Given the description of an element on the screen output the (x, y) to click on. 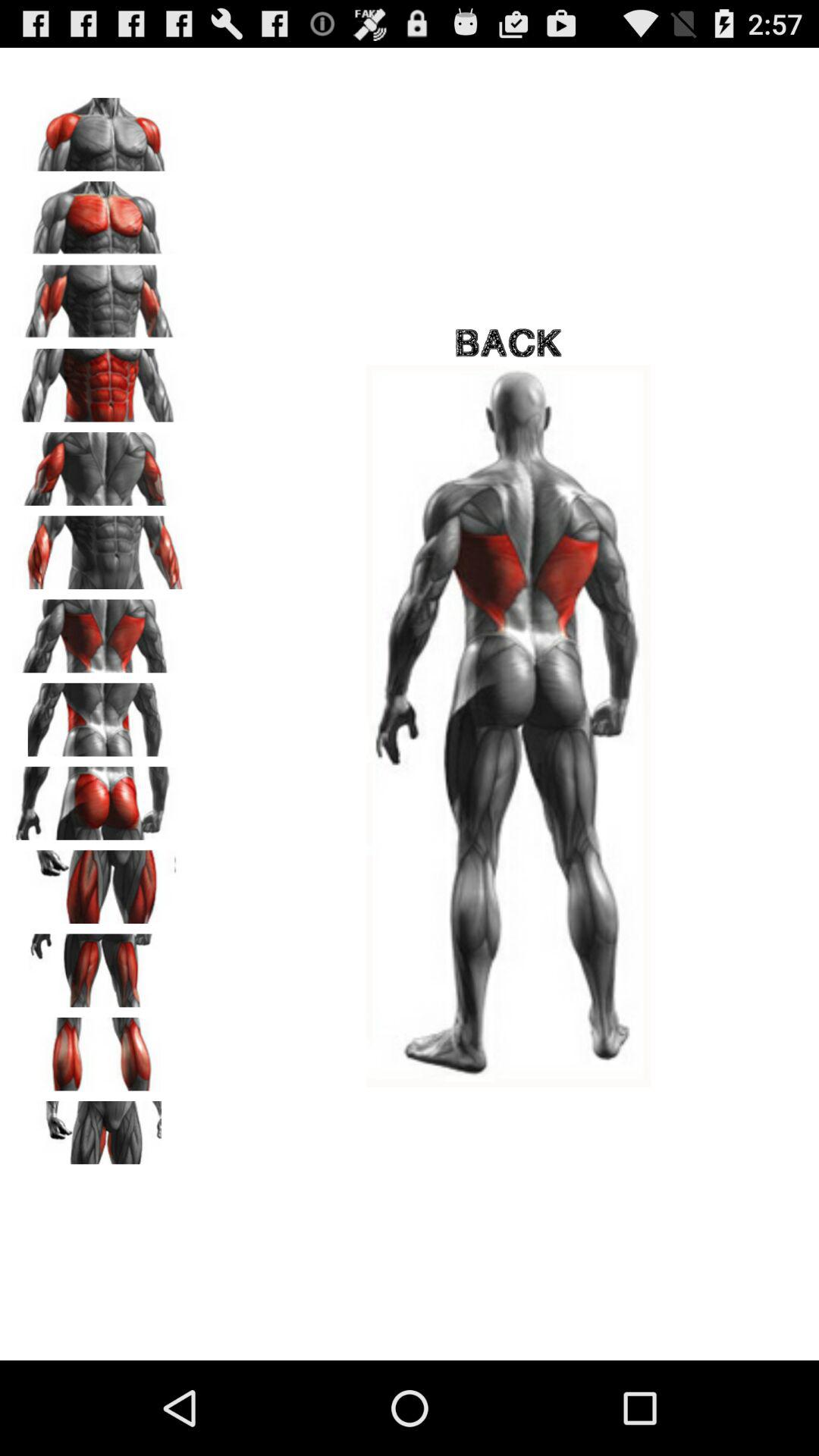
select muscle group (99, 129)
